Given the description of an element on the screen output the (x, y) to click on. 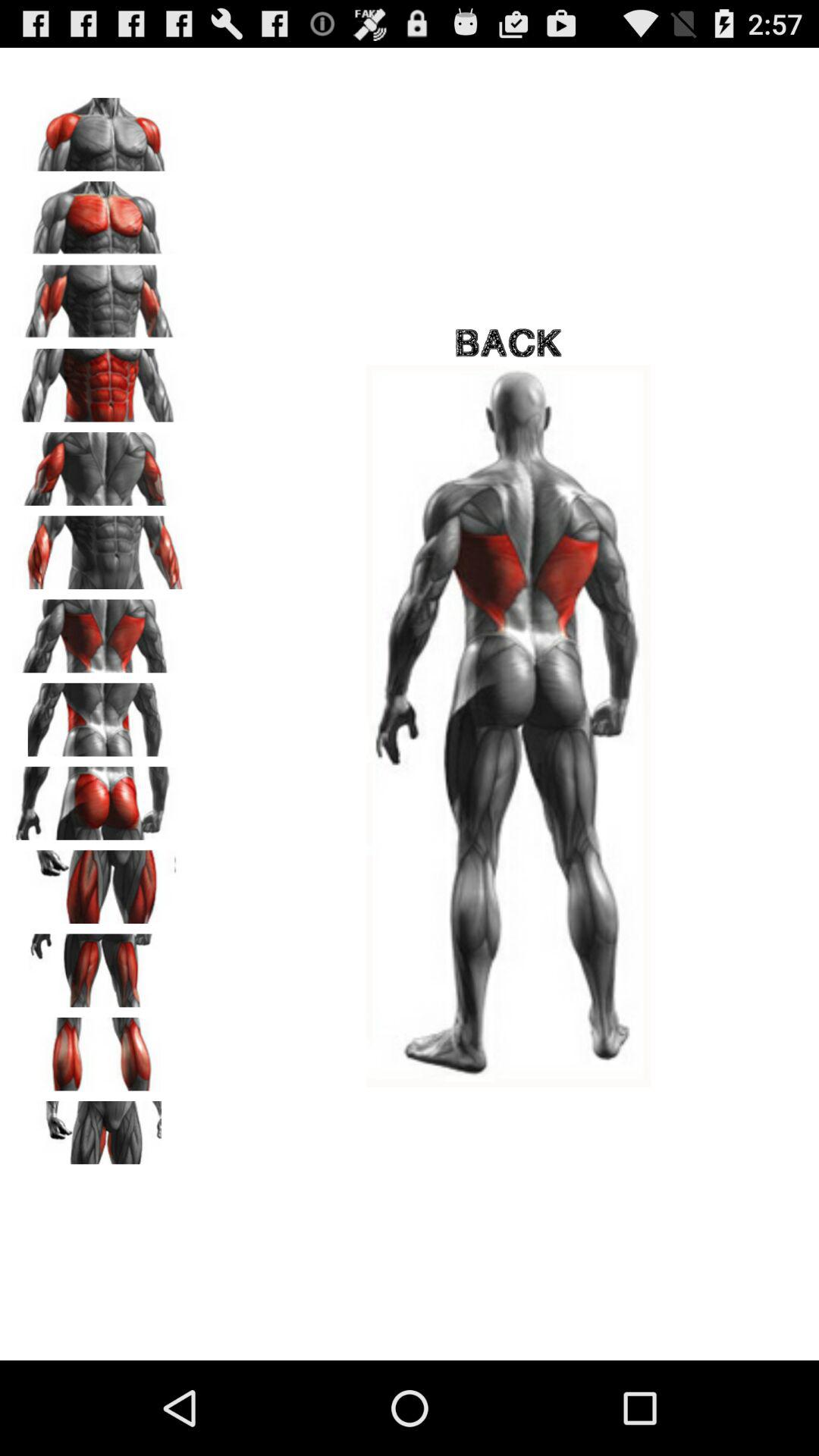
select muscle group (99, 129)
